Given the description of an element on the screen output the (x, y) to click on. 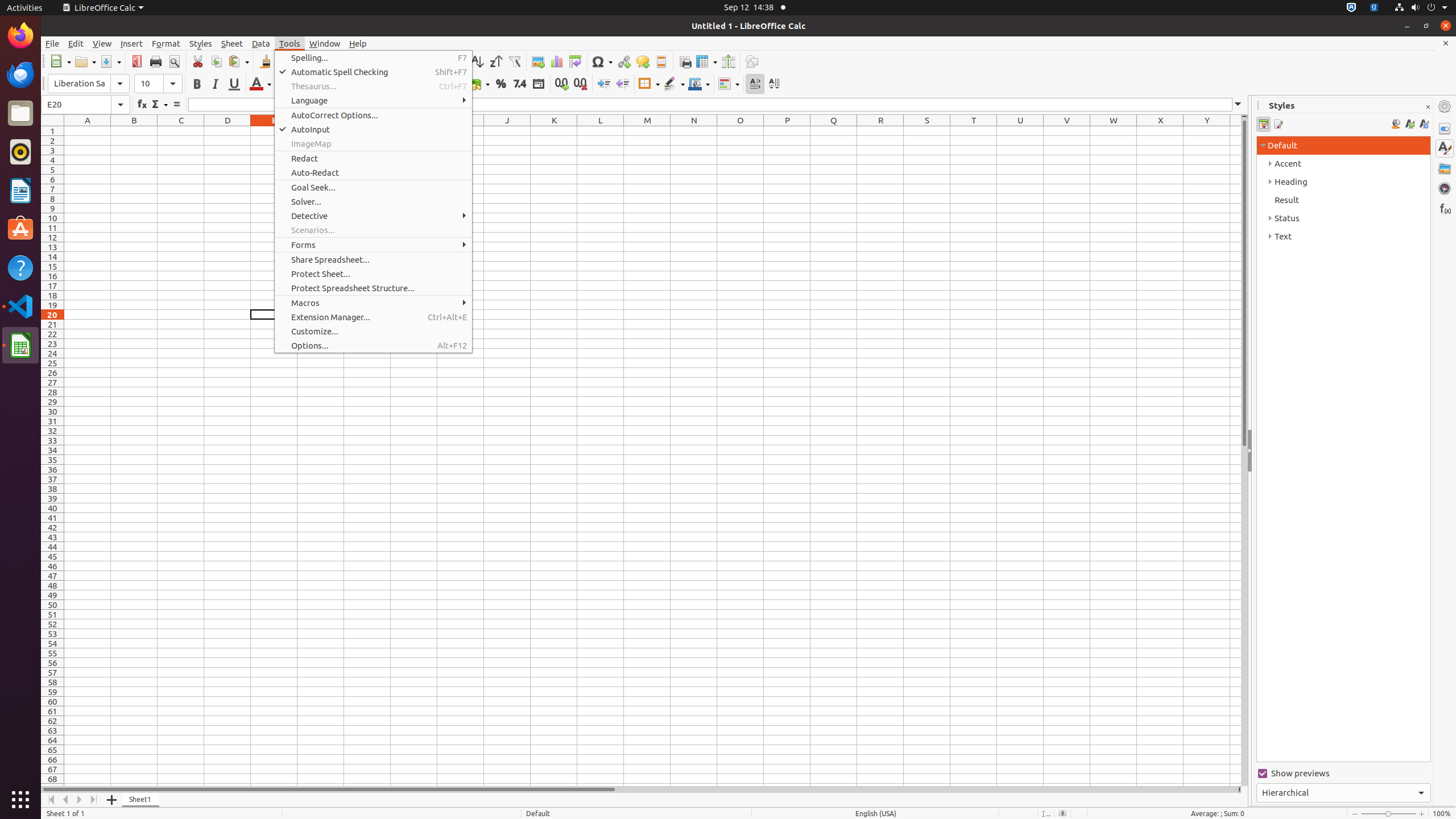
C1 Element type: table-cell (180, 130)
Edit Element type: menu (75, 43)
Protect Spreadsheet Structure... Element type: check-menu-item (373, 287)
Forms Element type: menu (373, 244)
Hyperlink Element type: toggle-button (623, 61)
